Given the description of an element on the screen output the (x, y) to click on. 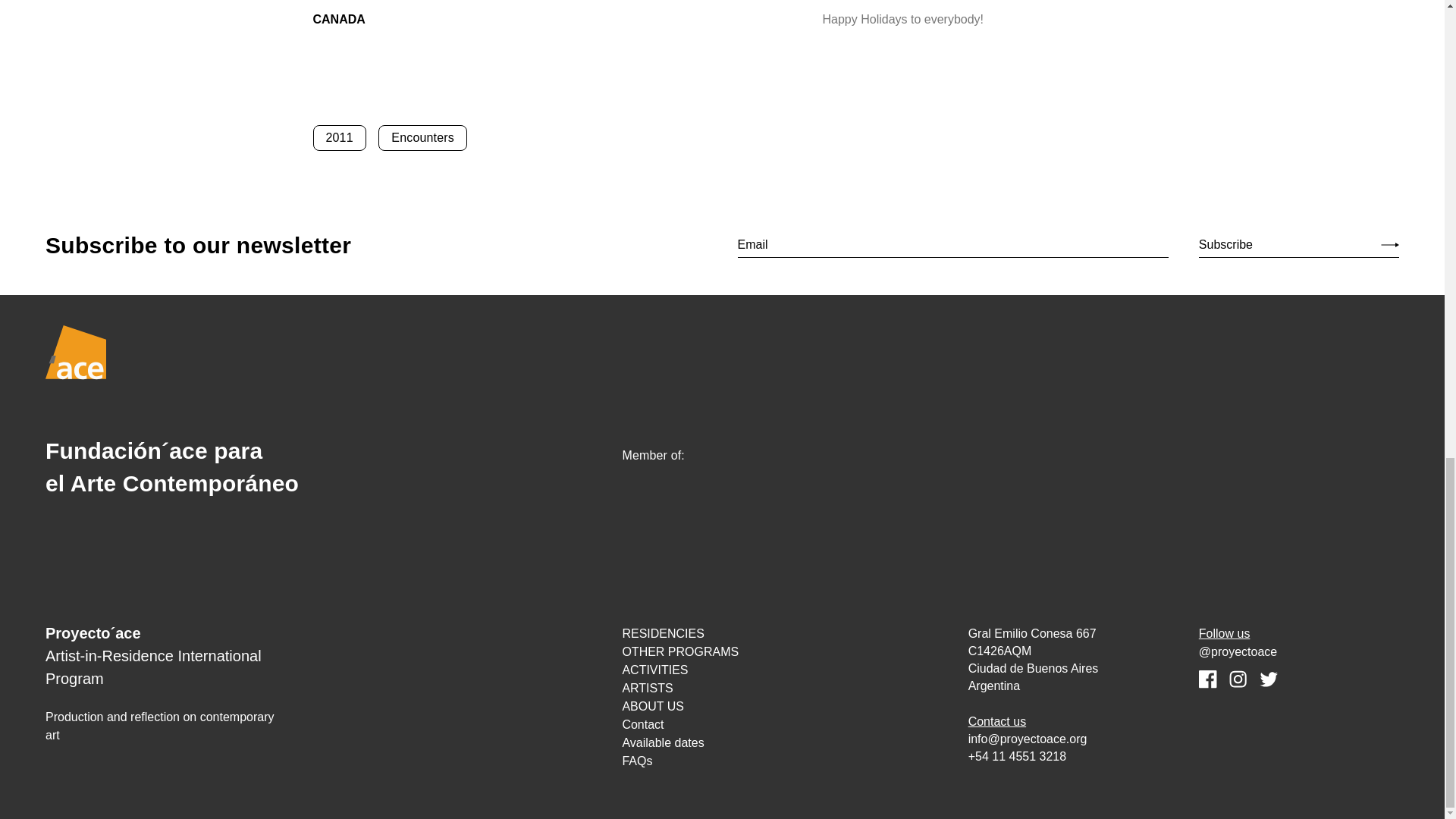
Encounters (422, 137)
2011 (339, 137)
